Given the description of an element on the screen output the (x, y) to click on. 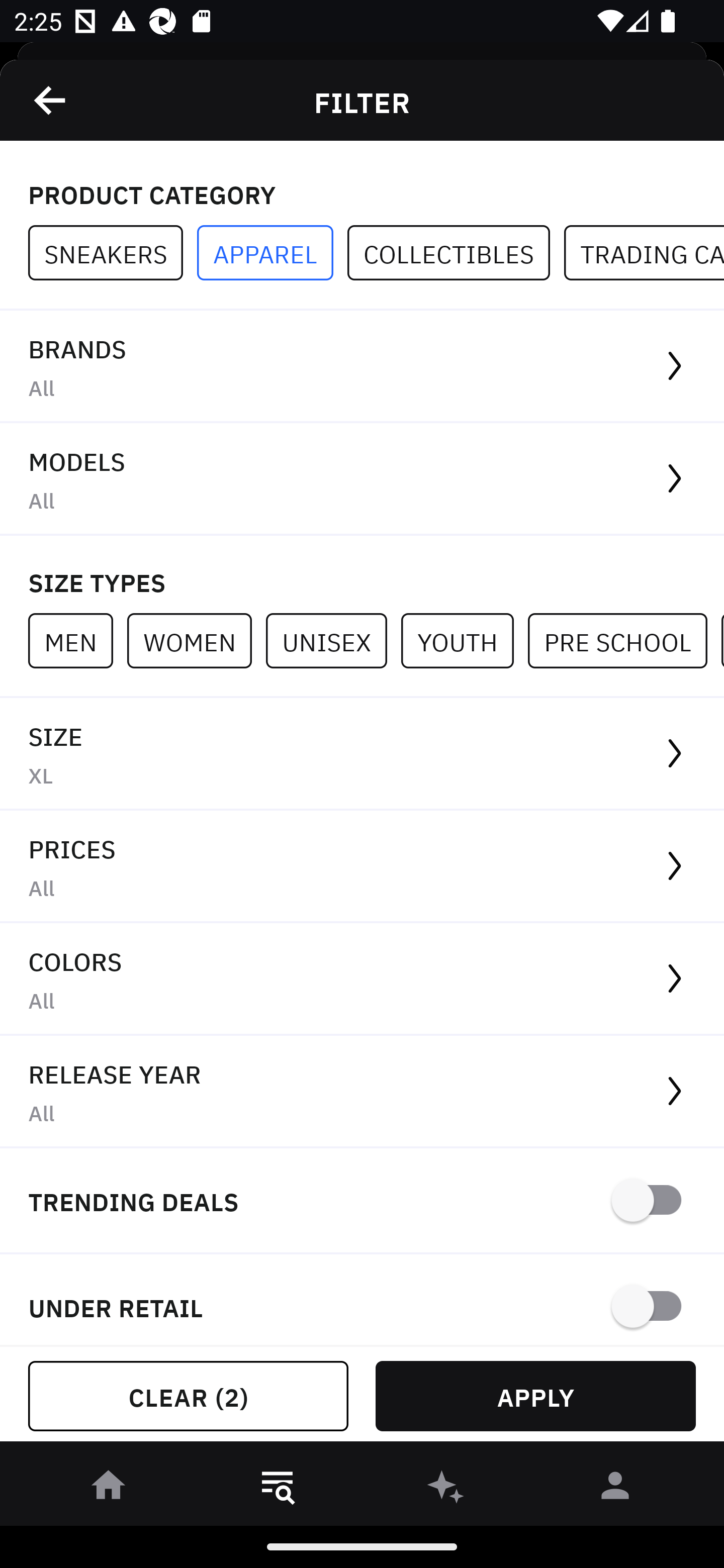
 (50, 100)
SNEAKERS (112, 252)
APPAREL (271, 252)
COLLECTIBLES (455, 252)
TRADING CARDS (643, 252)
BRANDS All (362, 366)
MODELS All (362, 479)
MEN (77, 640)
WOMEN (196, 640)
UNISEX (333, 640)
YOUTH (464, 640)
PRE SCHOOL (624, 640)
SIZE XL (362, 753)
PRICES All (362, 866)
COLORS All (362, 979)
RELEASE YEAR All (362, 1091)
TRENDING DEALS (362, 1200)
UNDER RETAIL (362, 1299)
CLEAR (2) (188, 1396)
APPLY (535, 1396)
󰋜 (108, 1488)
󱎸 (277, 1488)
󰫢 (446, 1488)
󰀄 (615, 1488)
